Given the description of an element on the screen output the (x, y) to click on. 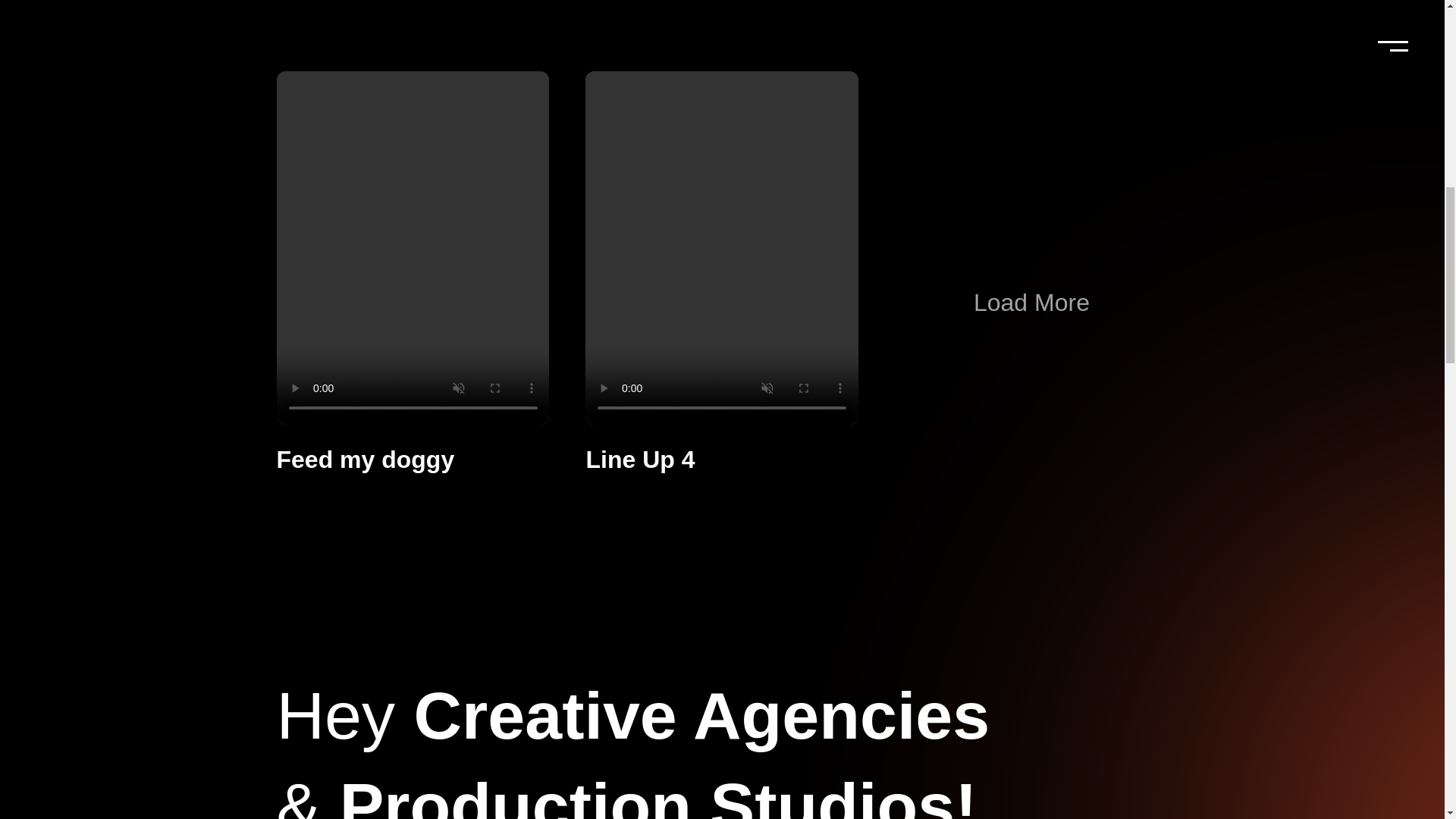
Feed my doggy (365, 459)
